Given the description of an element on the screen output the (x, y) to click on. 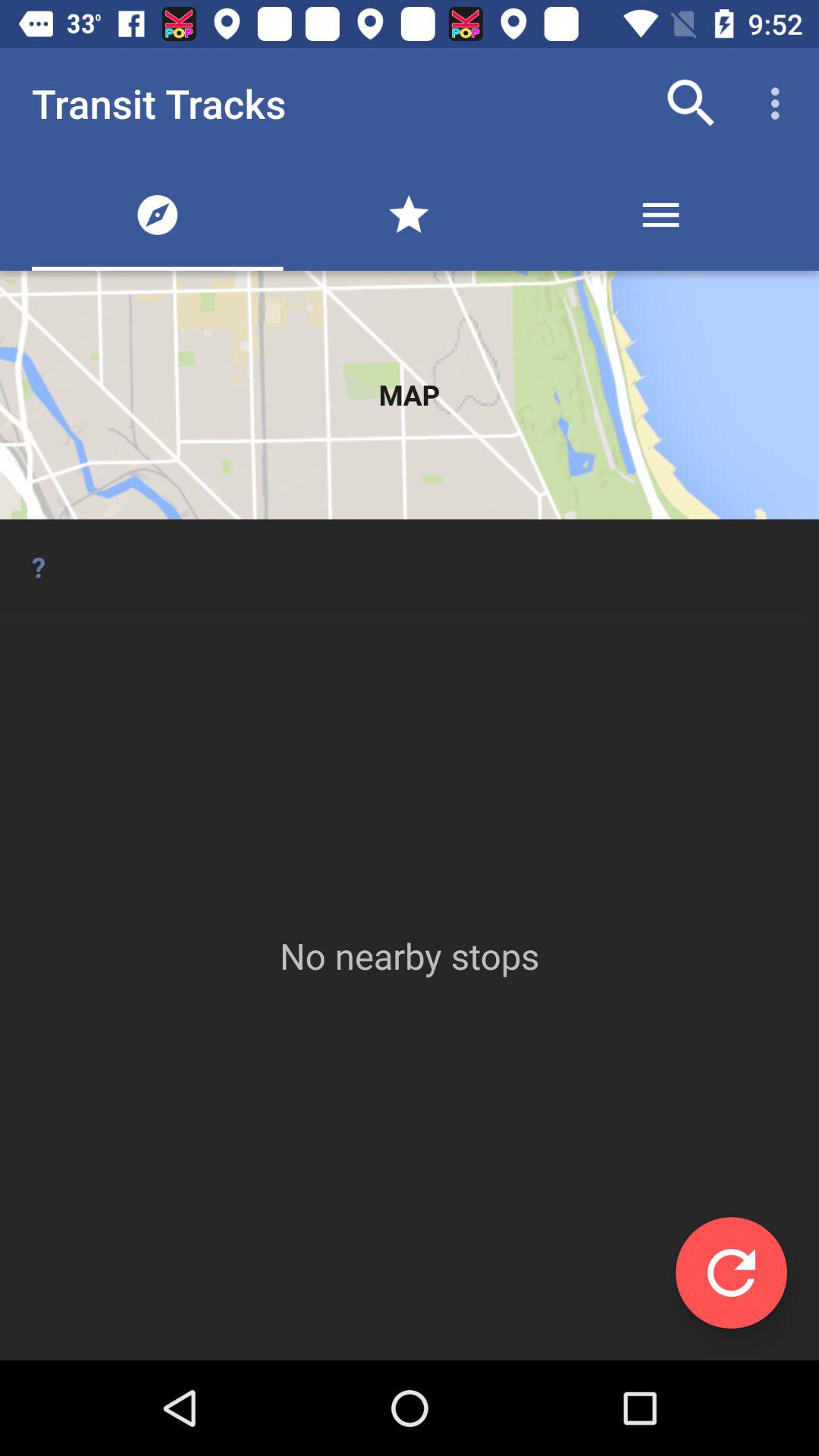
choose app to the right of transit tracks app (691, 103)
